Given the description of an element on the screen output the (x, y) to click on. 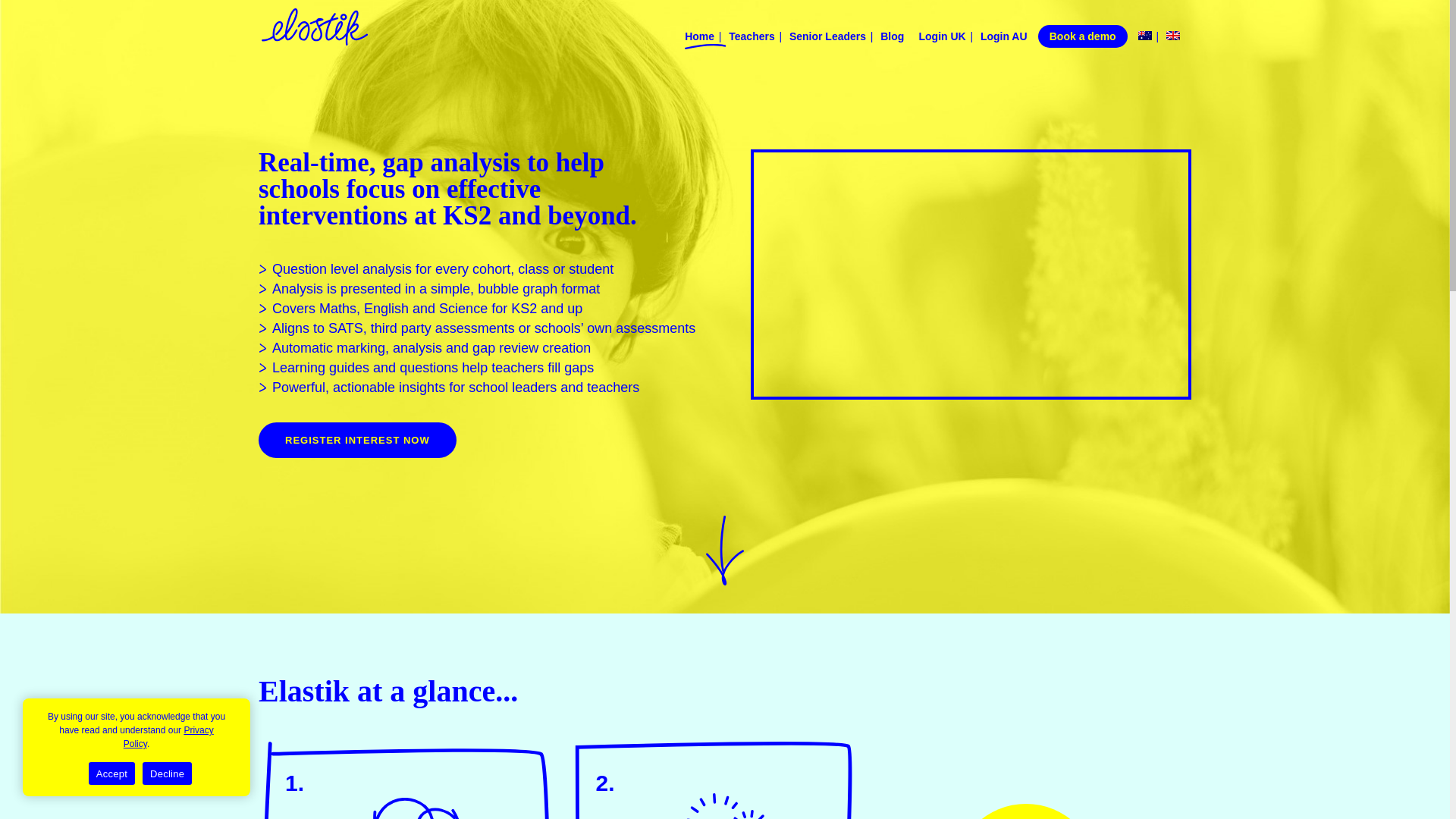
Blog (897, 42)
Accept (111, 773)
Privacy Policy (168, 736)
Login AU (1007, 42)
Senior Leaders (833, 42)
Teachers (757, 42)
Book a demo (1082, 36)
Home (704, 42)
REGISTER INTEREST NOW (358, 439)
Login UK (947, 42)
